Given the description of an element on the screen output the (x, y) to click on. 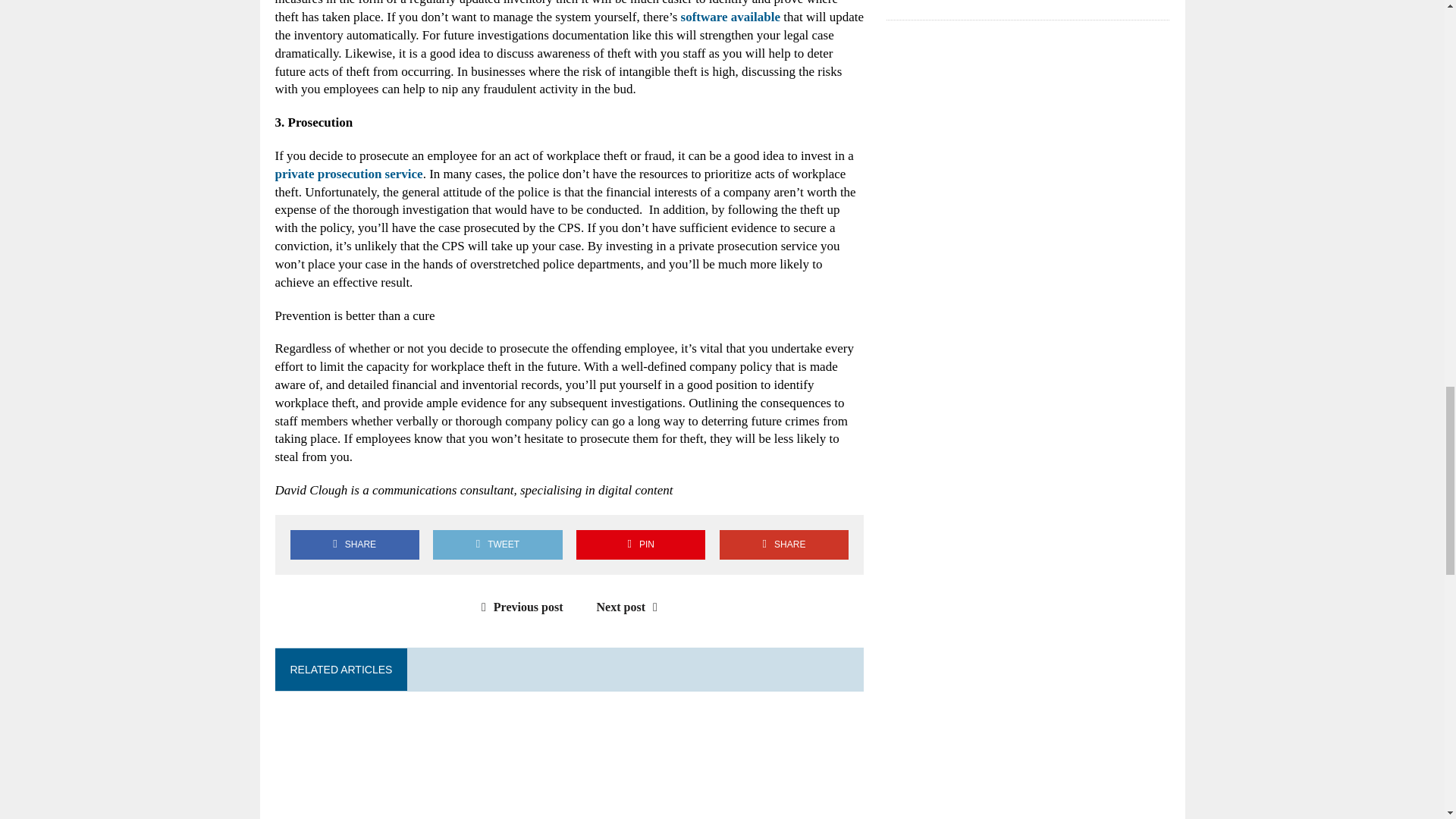
Share on Facebook (354, 544)
Tweet This Post (497, 544)
Pin This Post (640, 544)
